Given the description of an element on the screen output the (x, y) to click on. 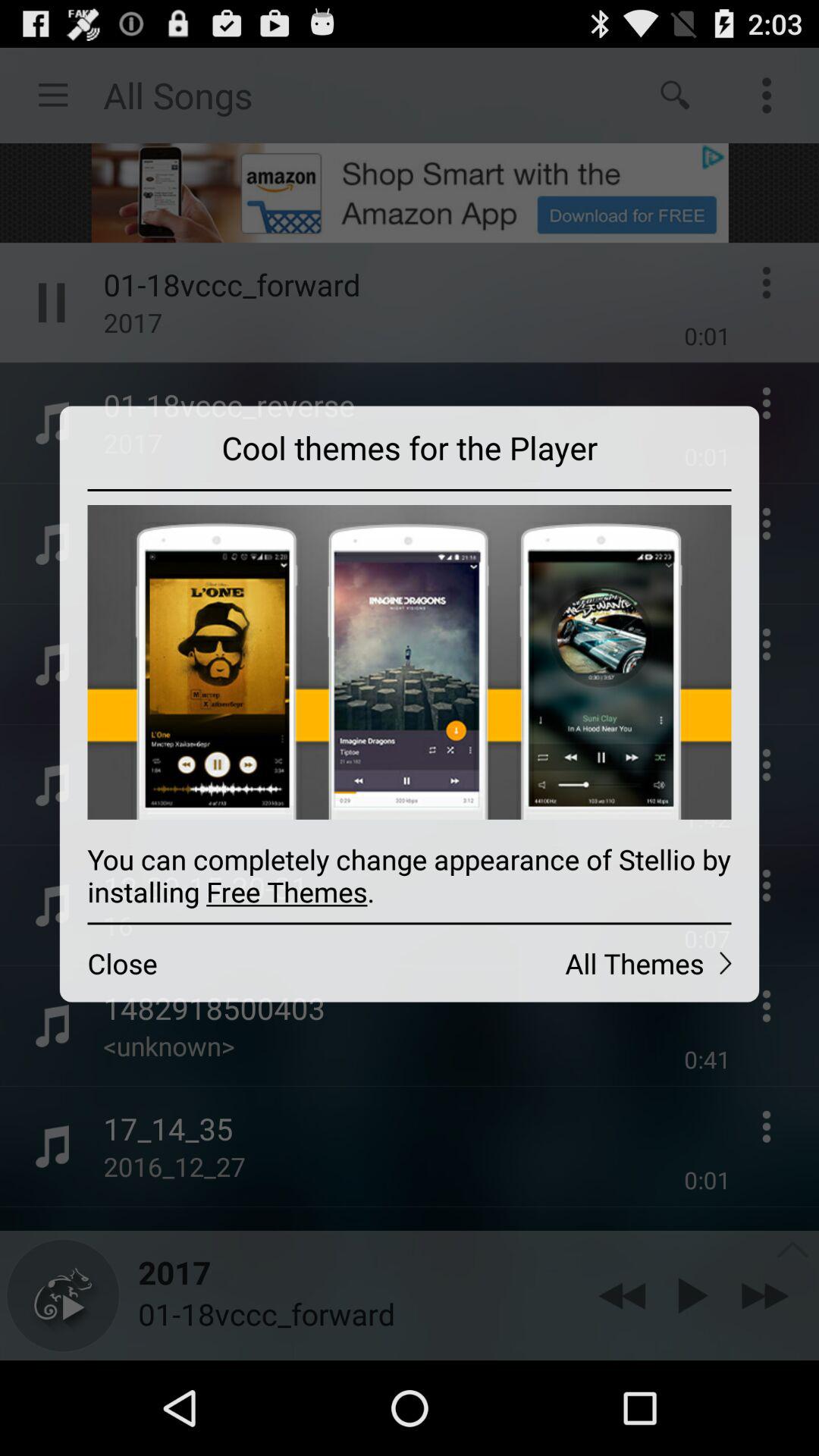
swipe until the all themes icon (584, 963)
